Given the description of an element on the screen output the (x, y) to click on. 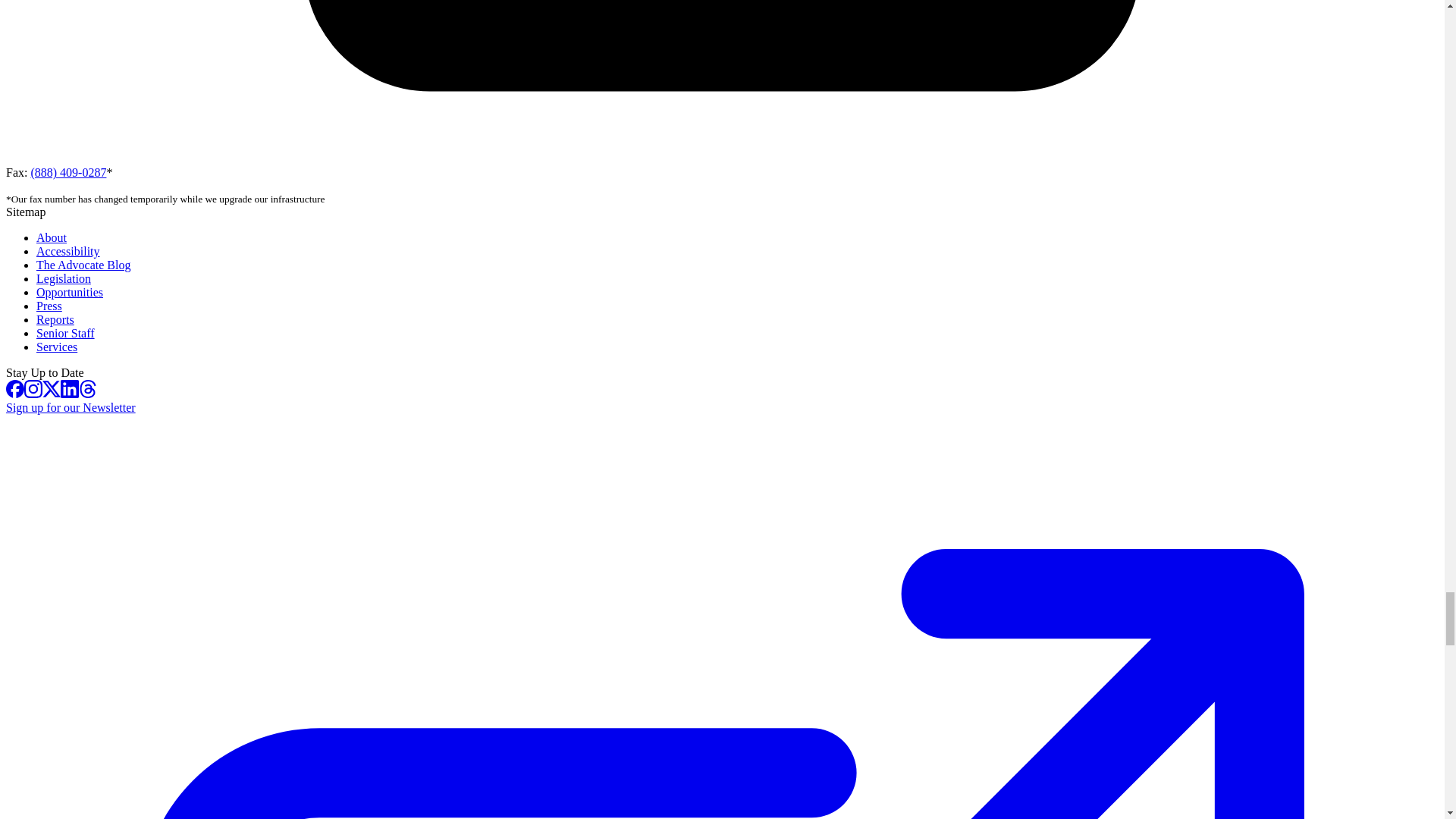
Instagram (33, 389)
LinkedIn (69, 389)
Accessibility (68, 250)
Legislation (63, 278)
Threads (87, 389)
Facebook (14, 389)
The Advocate Blog (83, 264)
About (51, 237)
X (51, 389)
